Given the description of an element on the screen output the (x, y) to click on. 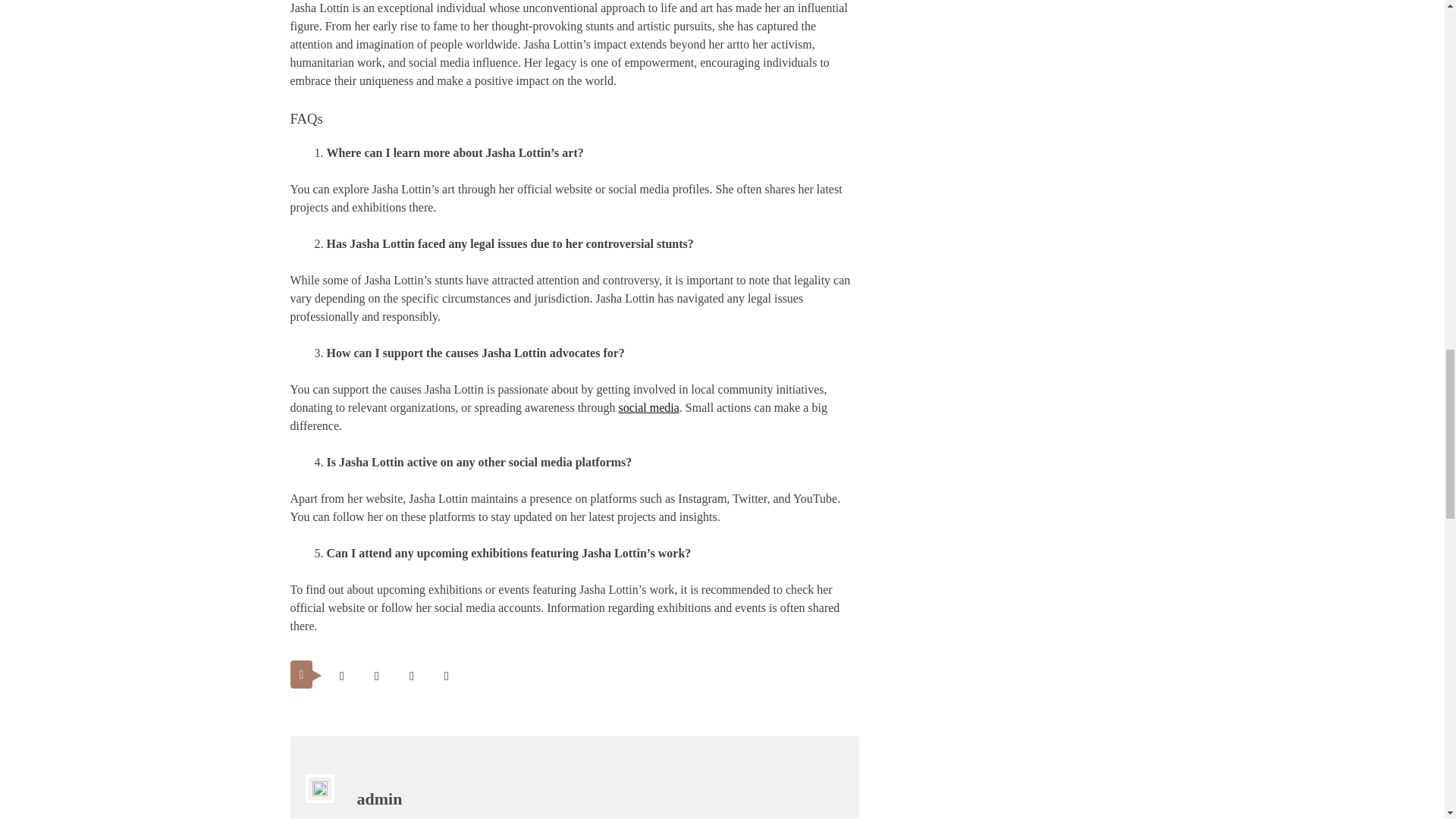
Share on Linkedin (446, 675)
Share on Pinterest (411, 675)
Tweet This! (342, 675)
social media (647, 407)
Share on Facebook (376, 675)
